Given the description of an element on the screen output the (x, y) to click on. 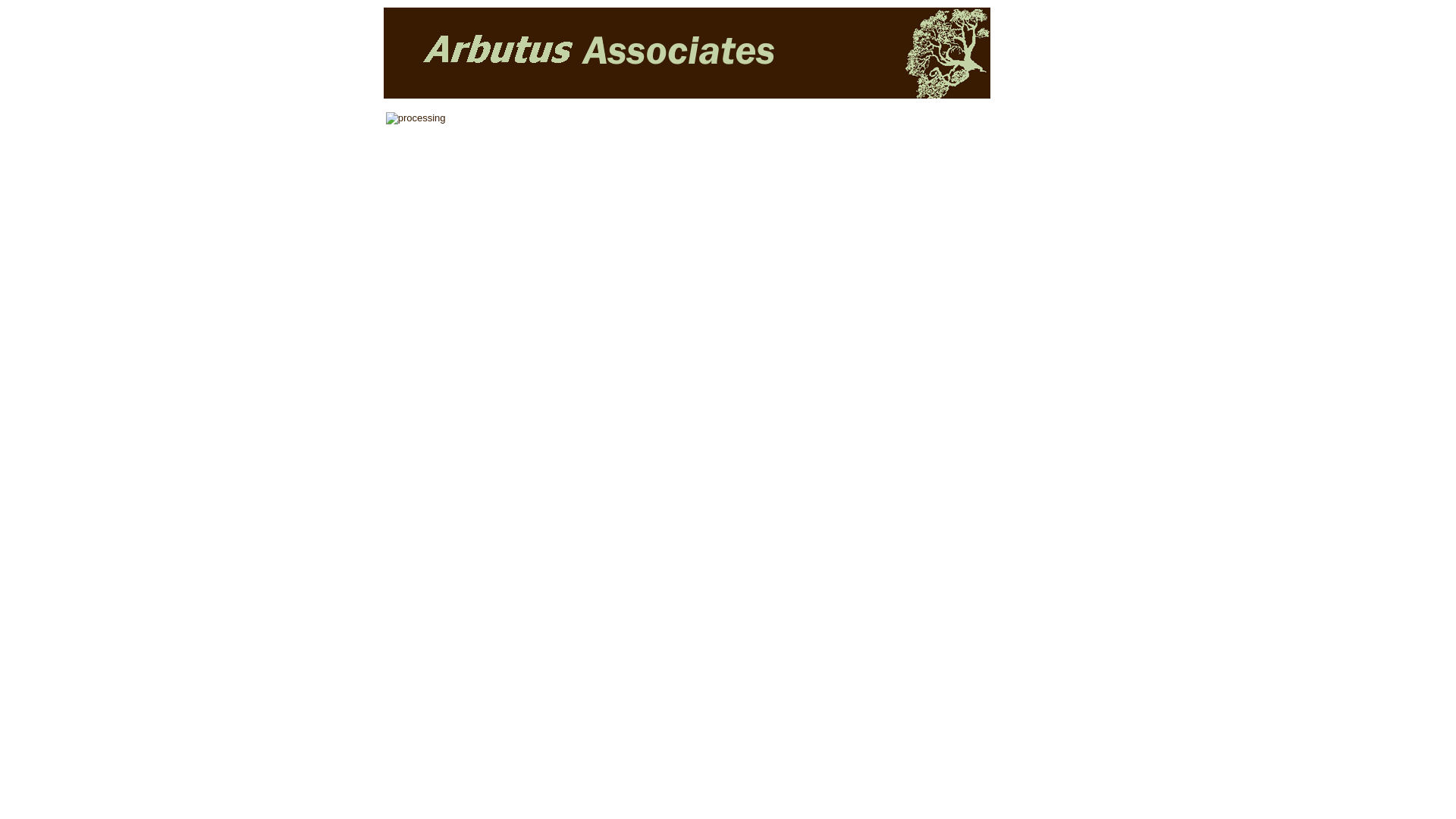
processing Element type: hover (415, 118)
